Given the description of an element on the screen output the (x, y) to click on. 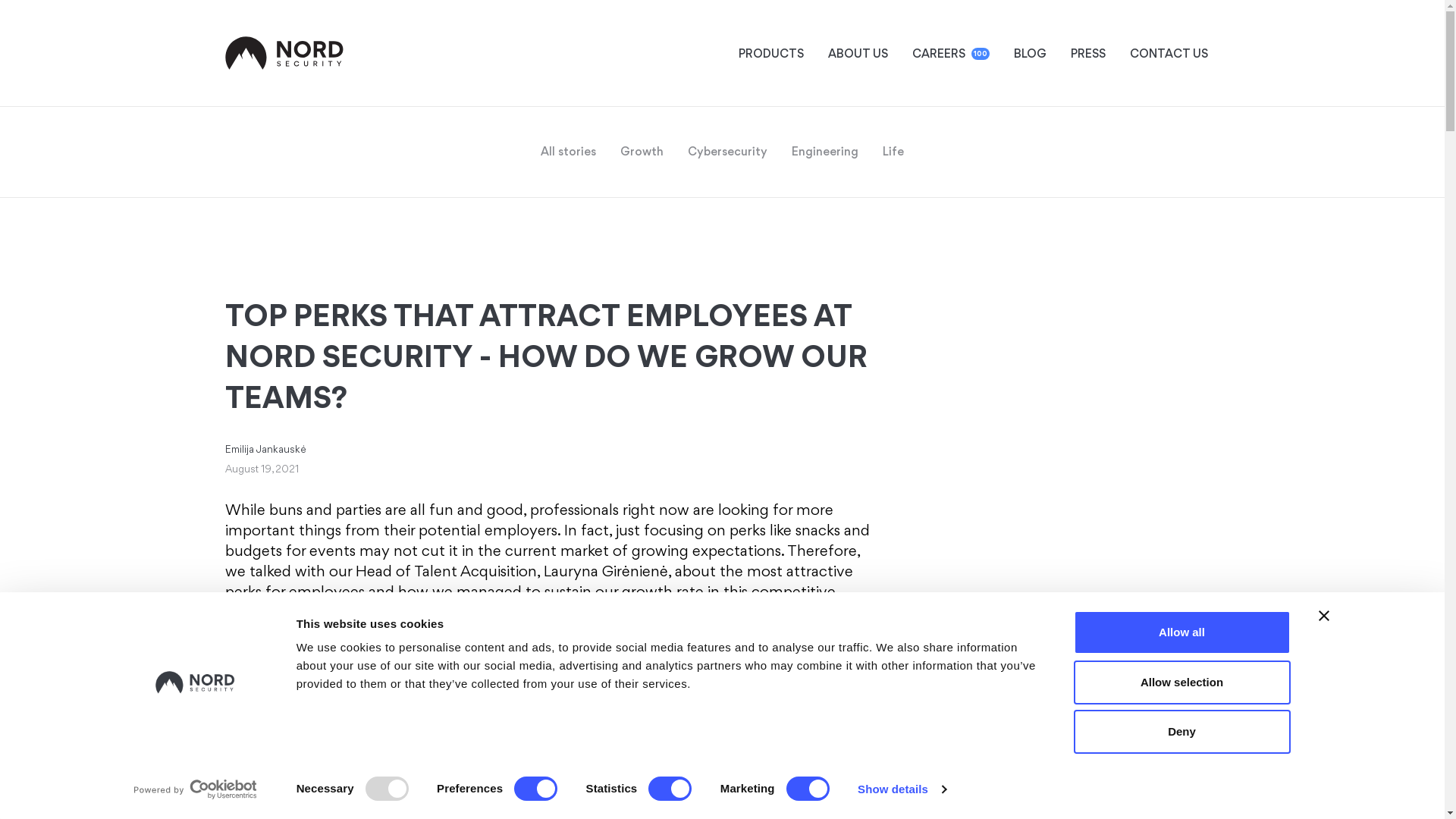
Show details (900, 789)
Allow all (1182, 632)
Deny (1182, 731)
Allow selection (1182, 681)
